Given the description of an element on the screen output the (x, y) to click on. 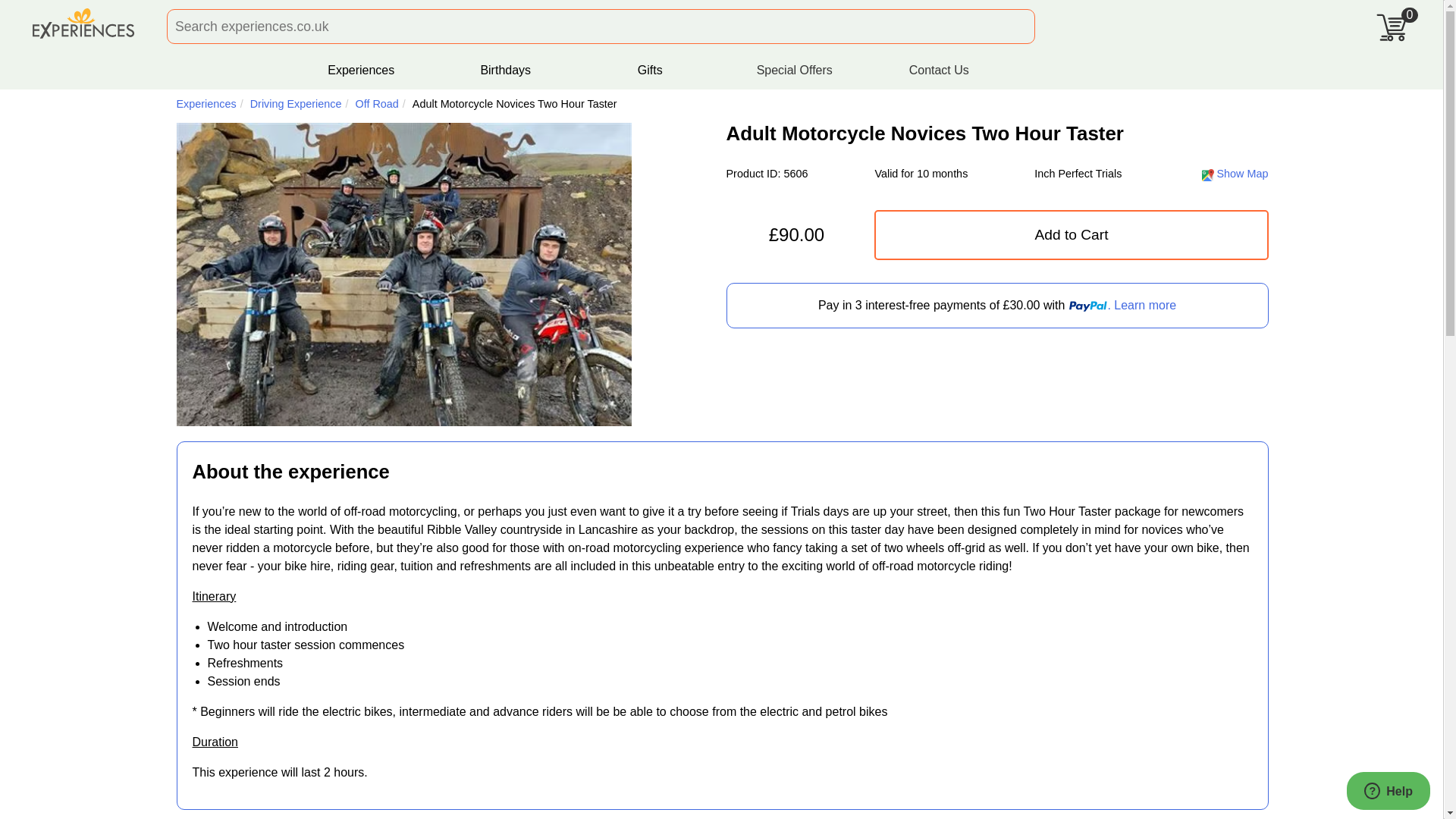
0 (1398, 20)
Special Offer Vouchers (794, 69)
Contact Us (938, 69)
Contact Us (938, 69)
Special Offers (794, 69)
